Given the description of an element on the screen output the (x, y) to click on. 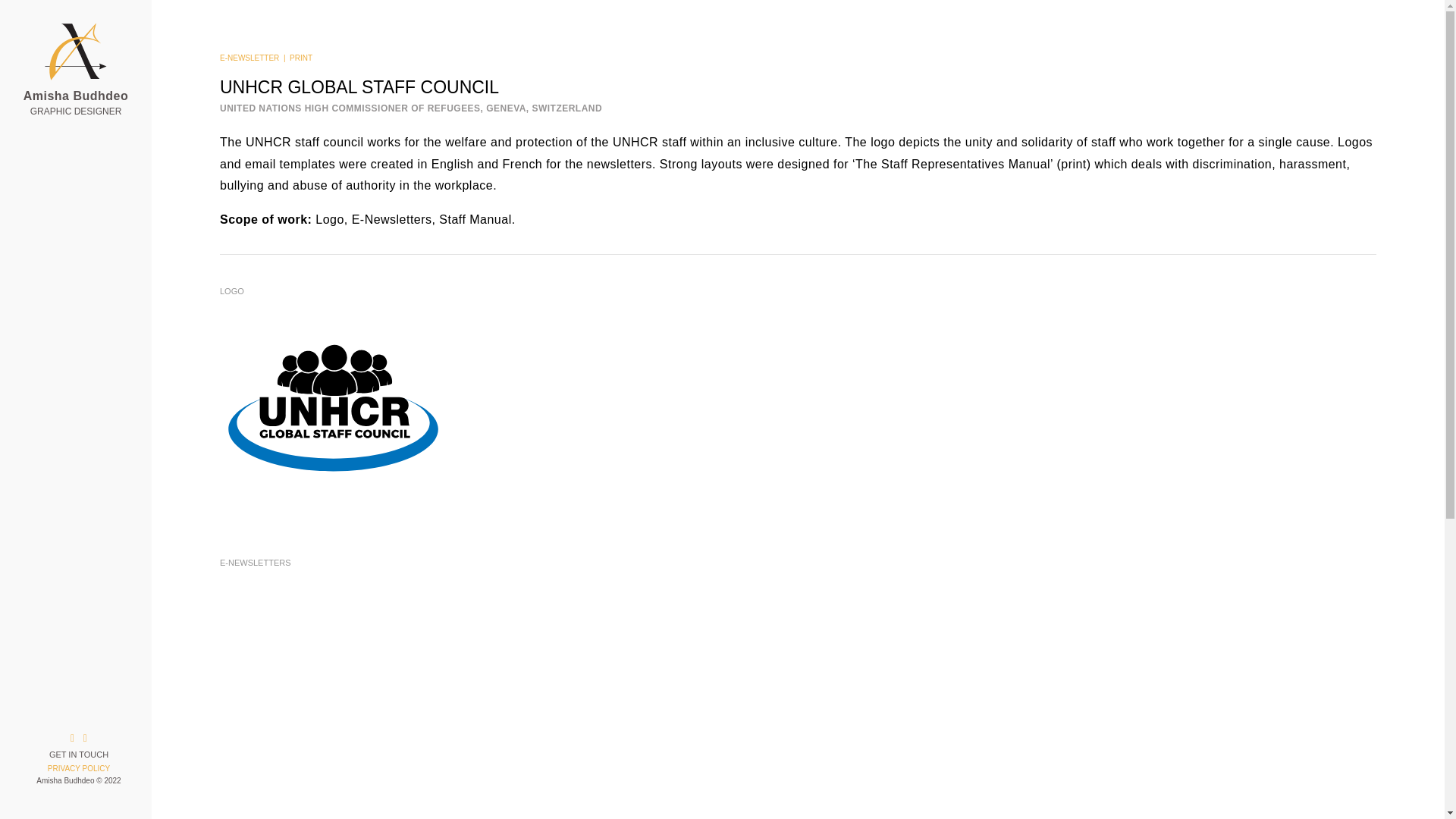
Amisha Logo (76, 51)
Global-SC-Logo (332, 409)
GET IN TOUCH (78, 754)
PRIVACY POLICY (79, 768)
